Given the description of an element on the screen output the (x, y) to click on. 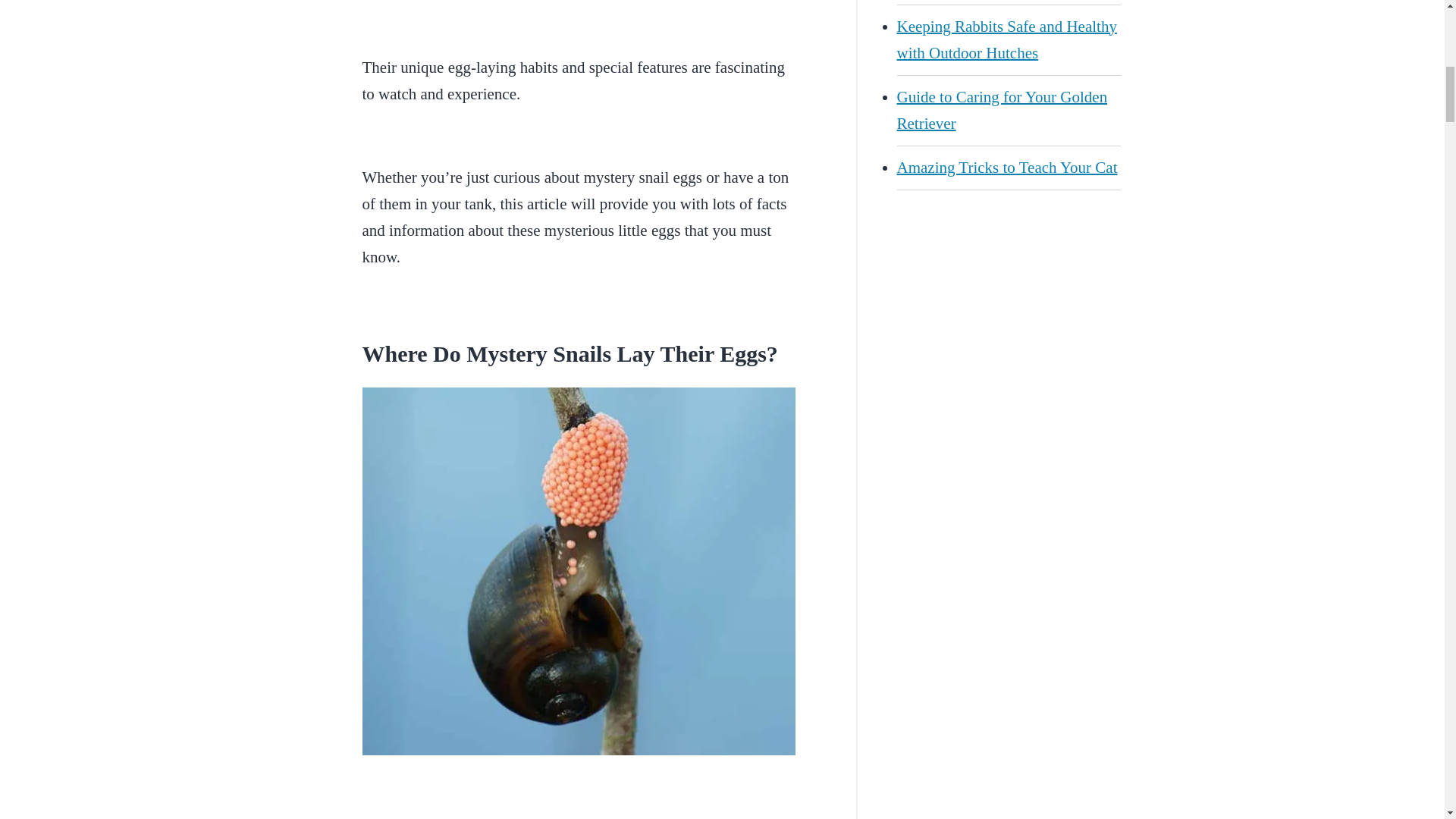
Amazing Tricks to Teach Your Cat (1007, 167)
Keeping Rabbits Safe and Healthy with Outdoor Hutches (1007, 39)
Guide to Caring for Your Golden Retriever (1007, 110)
